Given the description of an element on the screen output the (x, y) to click on. 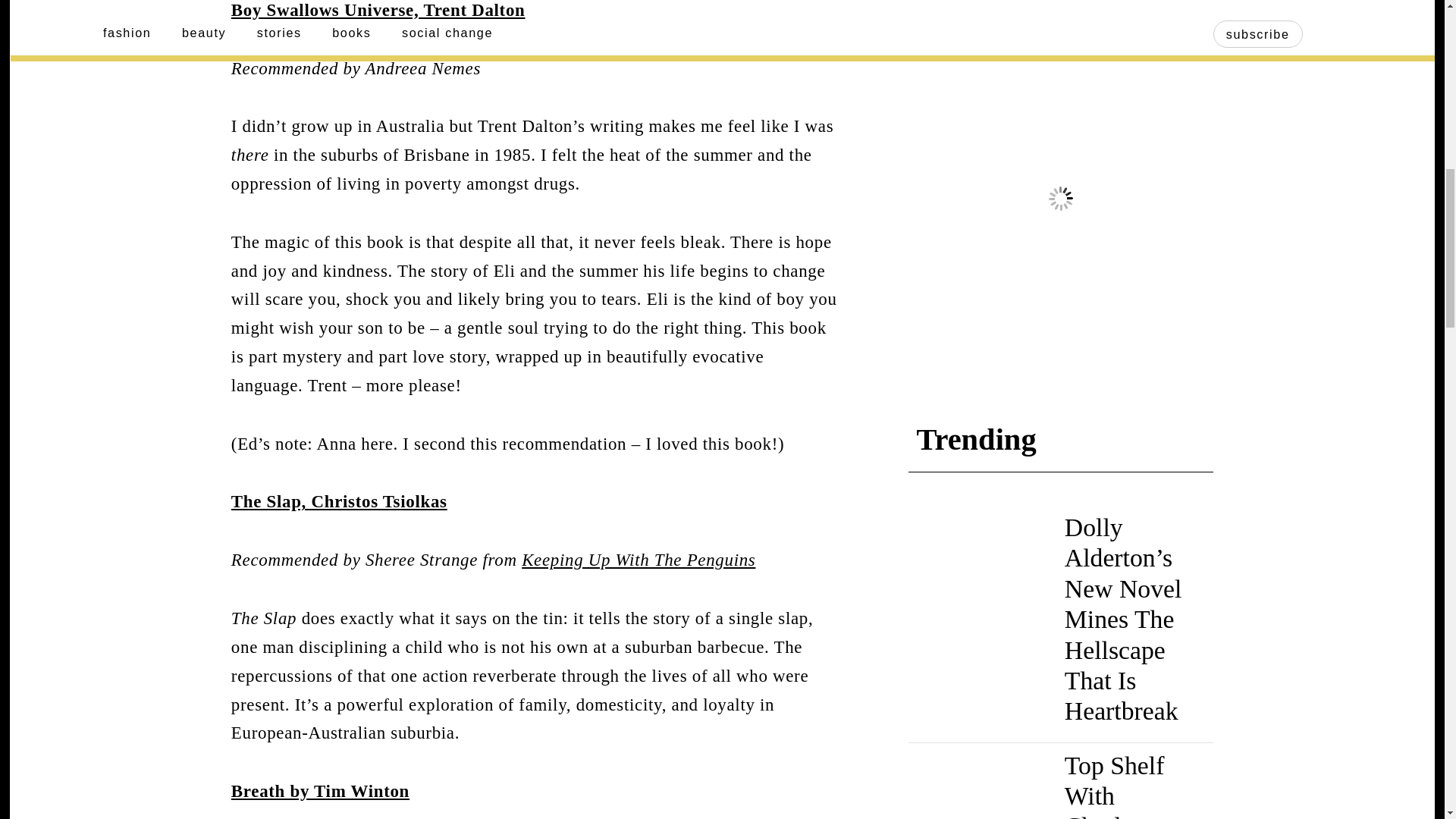
Keeping Up With The Penguins (638, 559)
Breath by Tim Winton (320, 791)
Top Shelf With Charlotte Wood (1114, 785)
The Slap, Christos Tsiolkas (338, 501)
Boy Swallows Universe, Trent Dalton (378, 9)
